Given the description of an element on the screen output the (x, y) to click on. 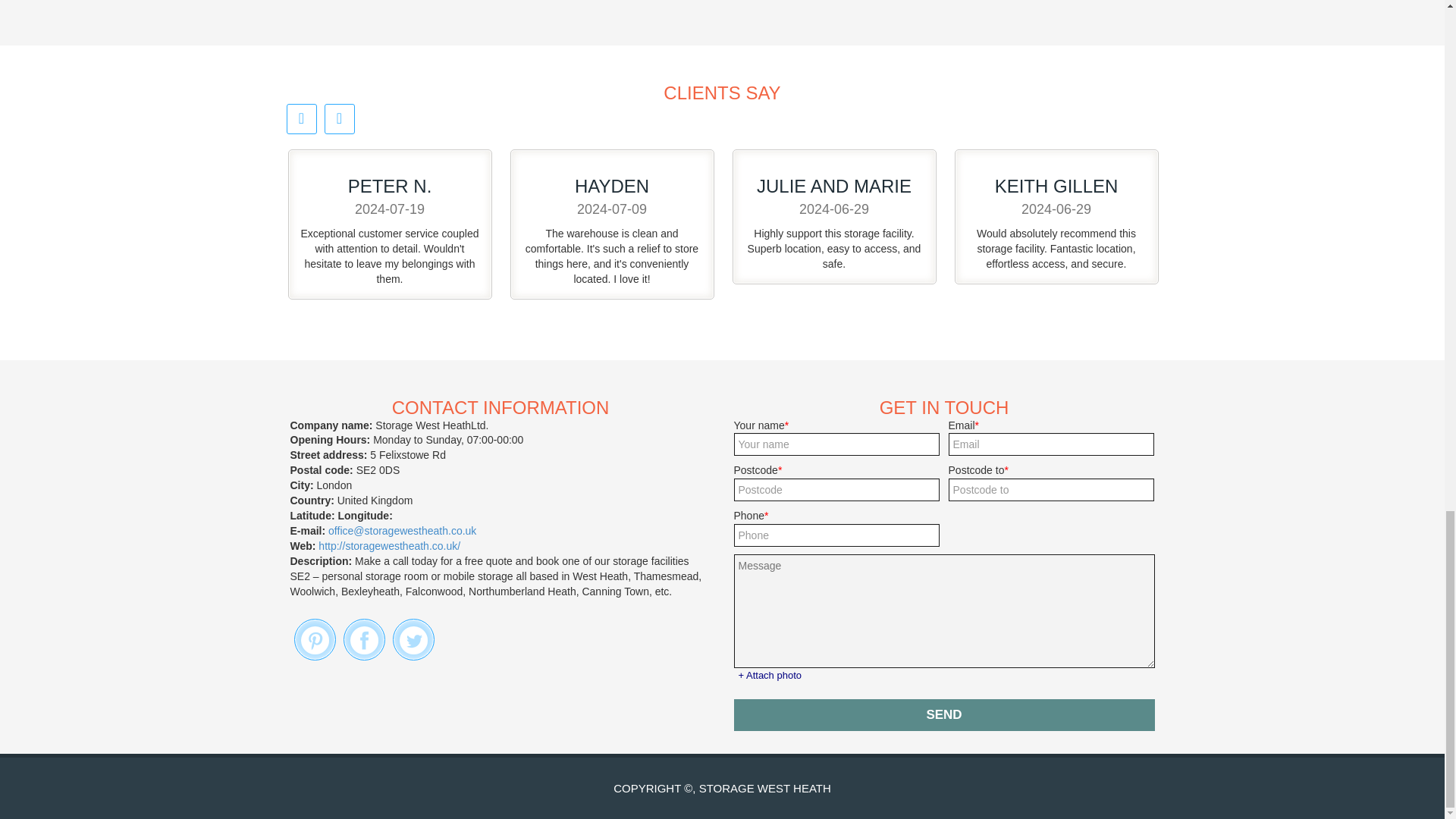
SEND (943, 715)
Send E-mail (402, 530)
